Given the description of an element on the screen output the (x, y) to click on. 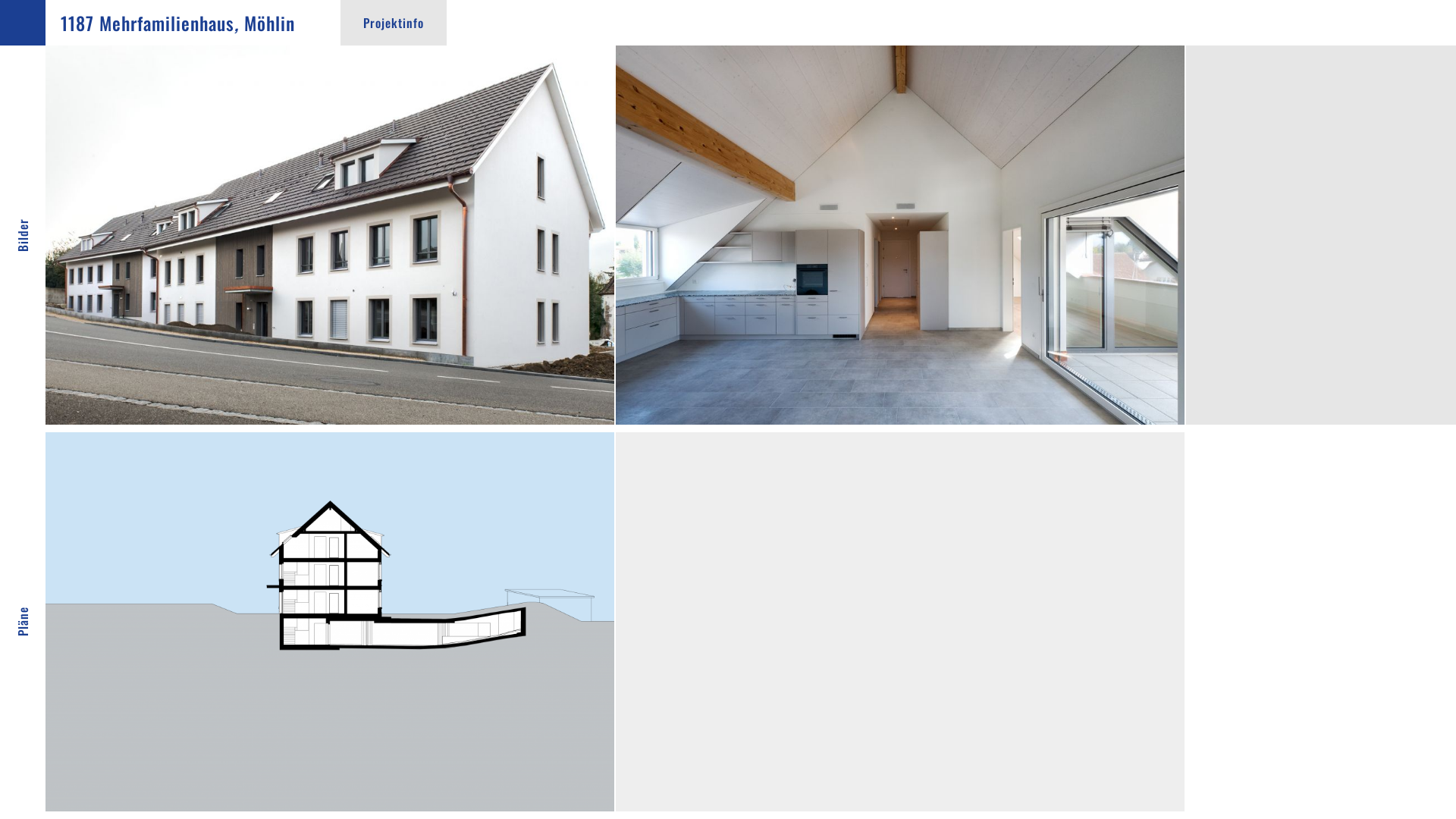
Projektinfo Element type: text (393, 22)
